Given the description of an element on the screen output the (x, y) to click on. 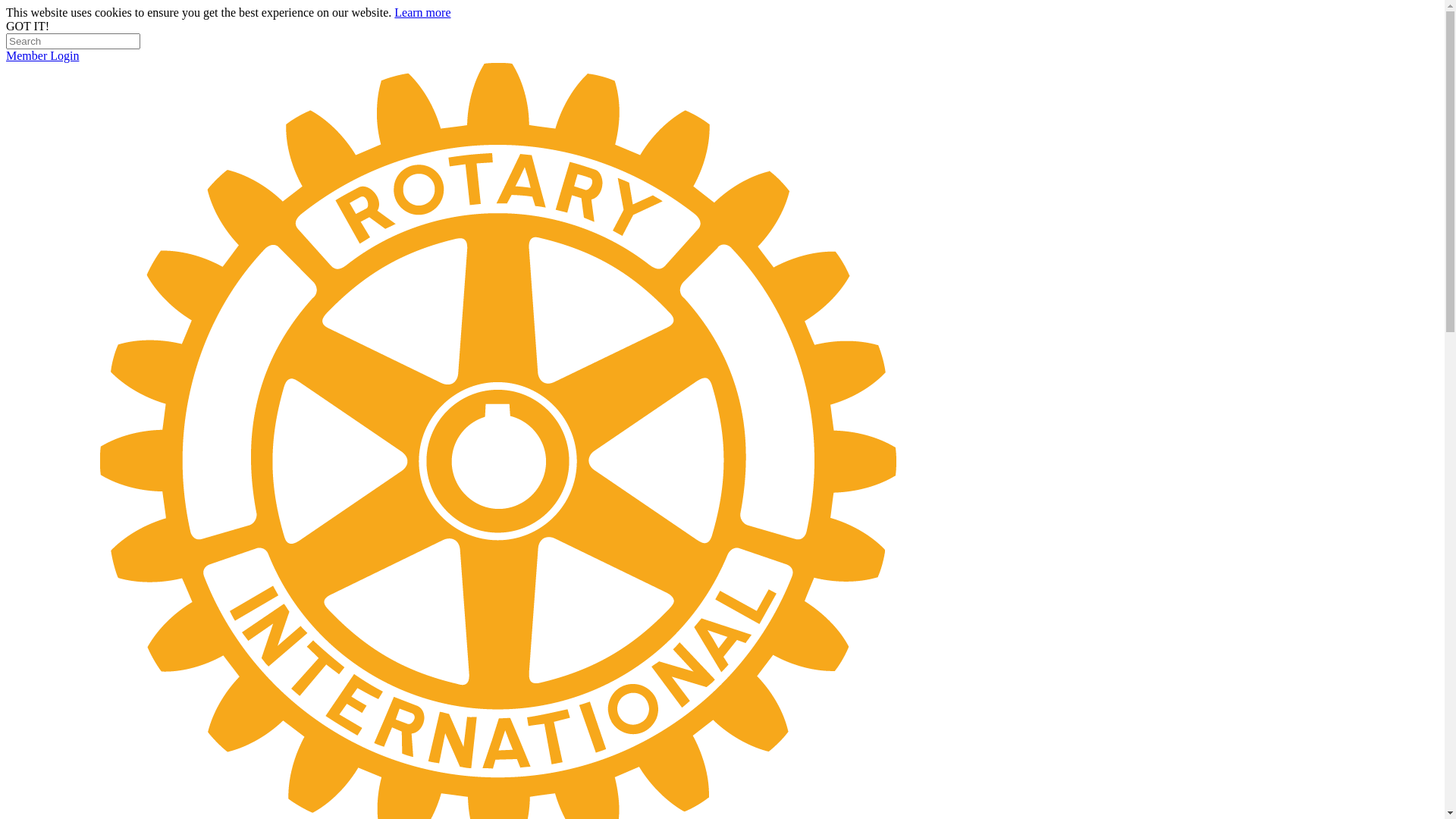
GOT IT! Element type: text (27, 25)
Member Login Element type: text (42, 55)
Learn more Element type: text (422, 12)
